Given the description of an element on the screen output the (x, y) to click on. 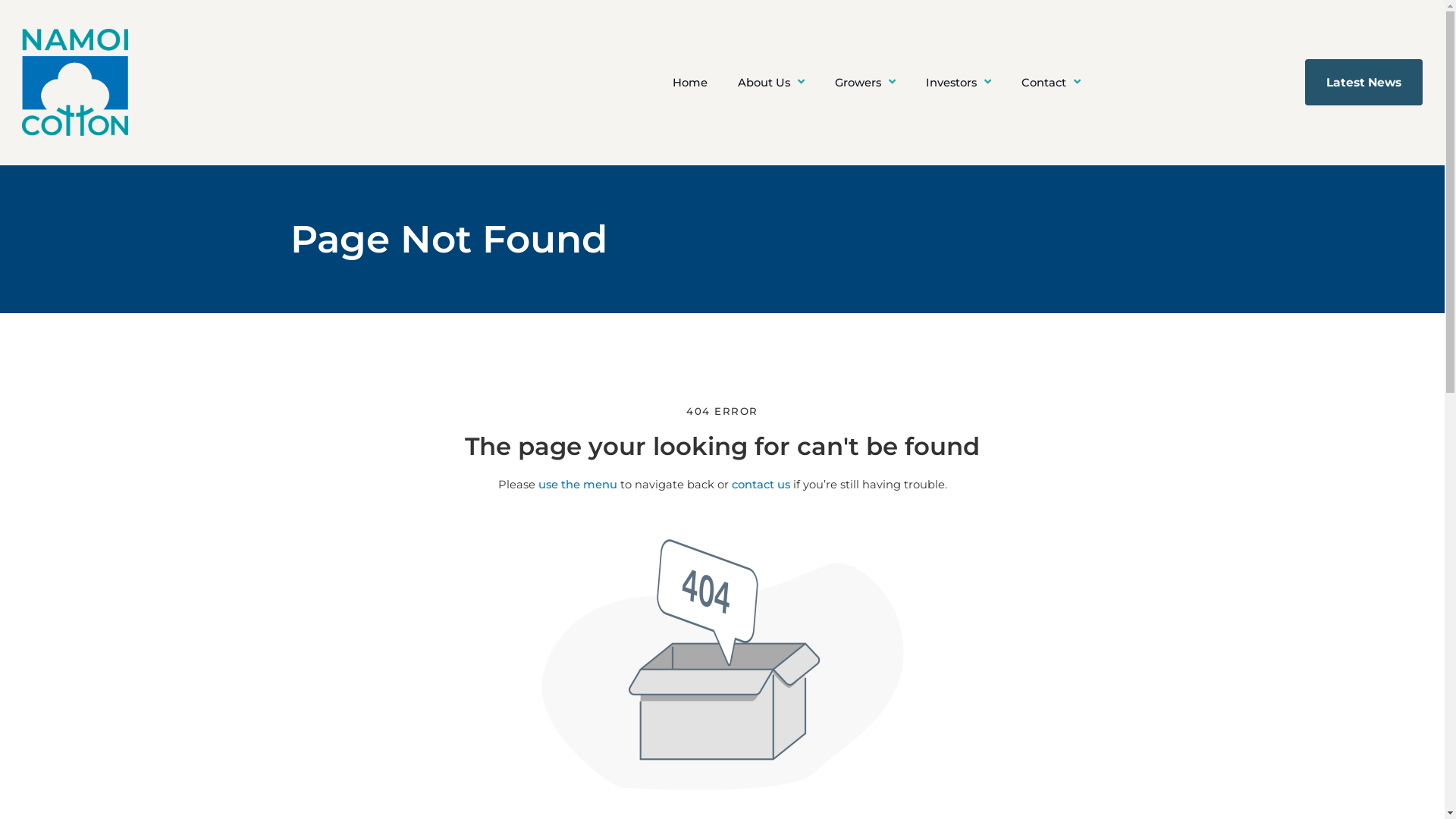
Investors Element type: text (958, 82)
contact us Element type: text (760, 484)
Home Element type: text (689, 82)
Contact Element type: text (1050, 82)
Latest News Element type: text (1363, 82)
About Us Element type: text (770, 82)
Growers Element type: text (864, 82)
use the menu Element type: text (577, 484)
